Given the description of an element on the screen output the (x, y) to click on. 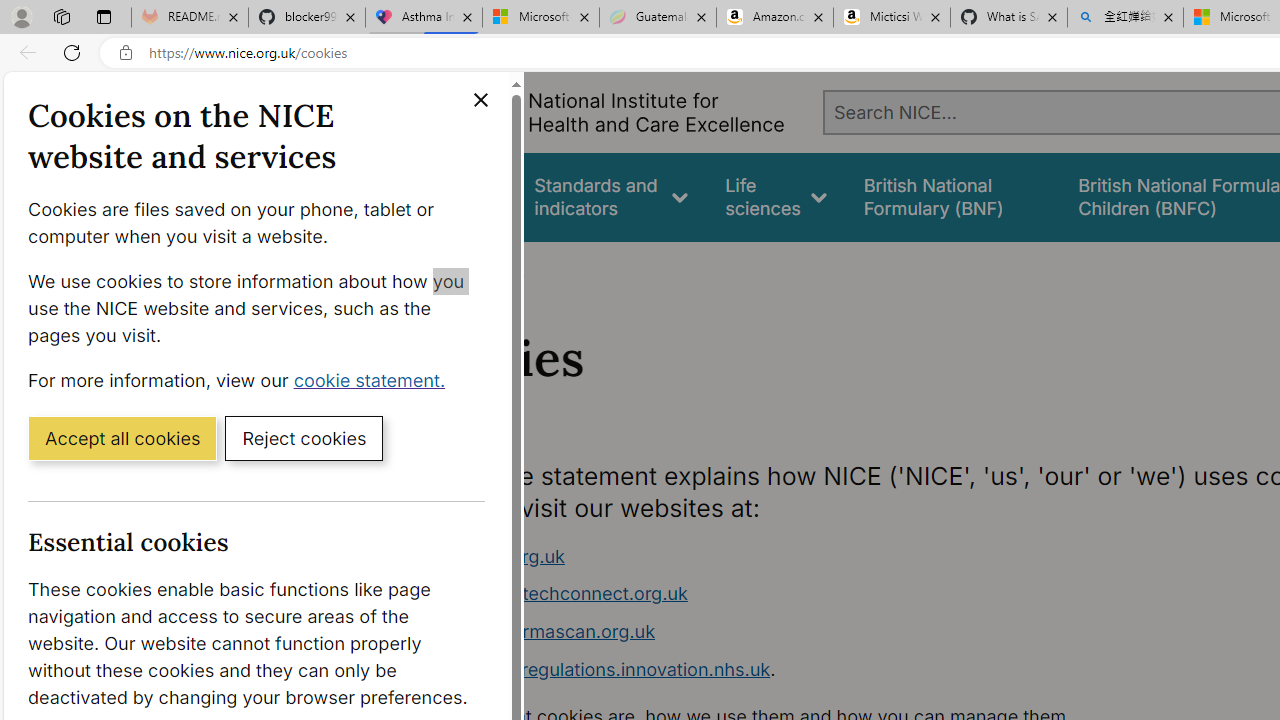
About (498, 268)
Guidance (458, 196)
false (952, 196)
About (498, 268)
www.healthtechconnect.org.uk (554, 593)
cookie statement. (Opens in a new window) (373, 379)
